Given the description of an element on the screen output the (x, y) to click on. 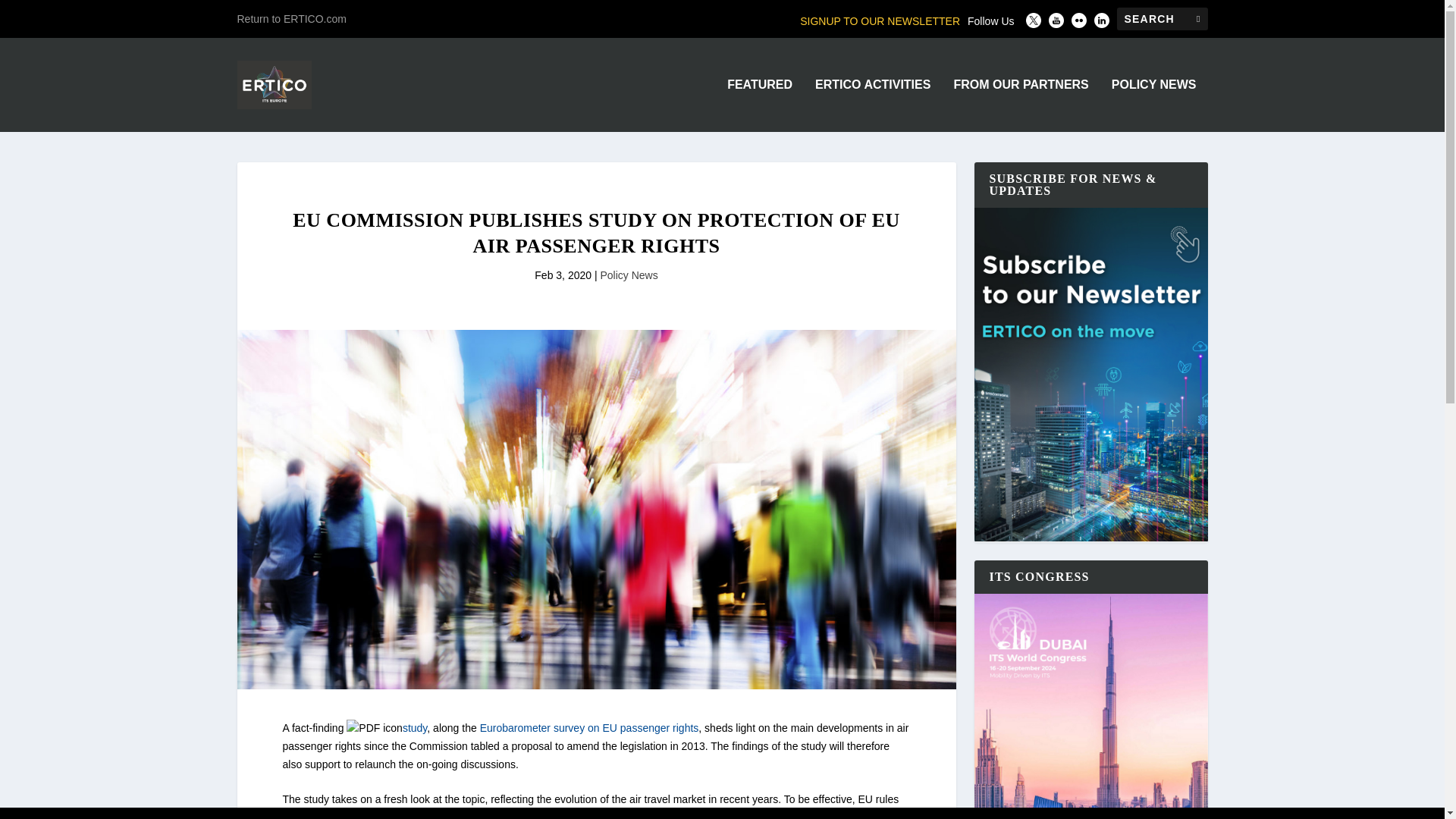
Search for: (1161, 18)
Eurobarometer survey on EU passenger rights (589, 727)
POLICY NEWS (1154, 104)
FROM OUR PARTNERS (1020, 104)
FEATURED (759, 104)
SIGNUP TO OUR NEWSLETTER (879, 21)
ERTICO ACTIVITIES (872, 104)
Return to ERTICO.com (290, 18)
Policy News (628, 275)
study (414, 727)
